Given the description of an element on the screen output the (x, y) to click on. 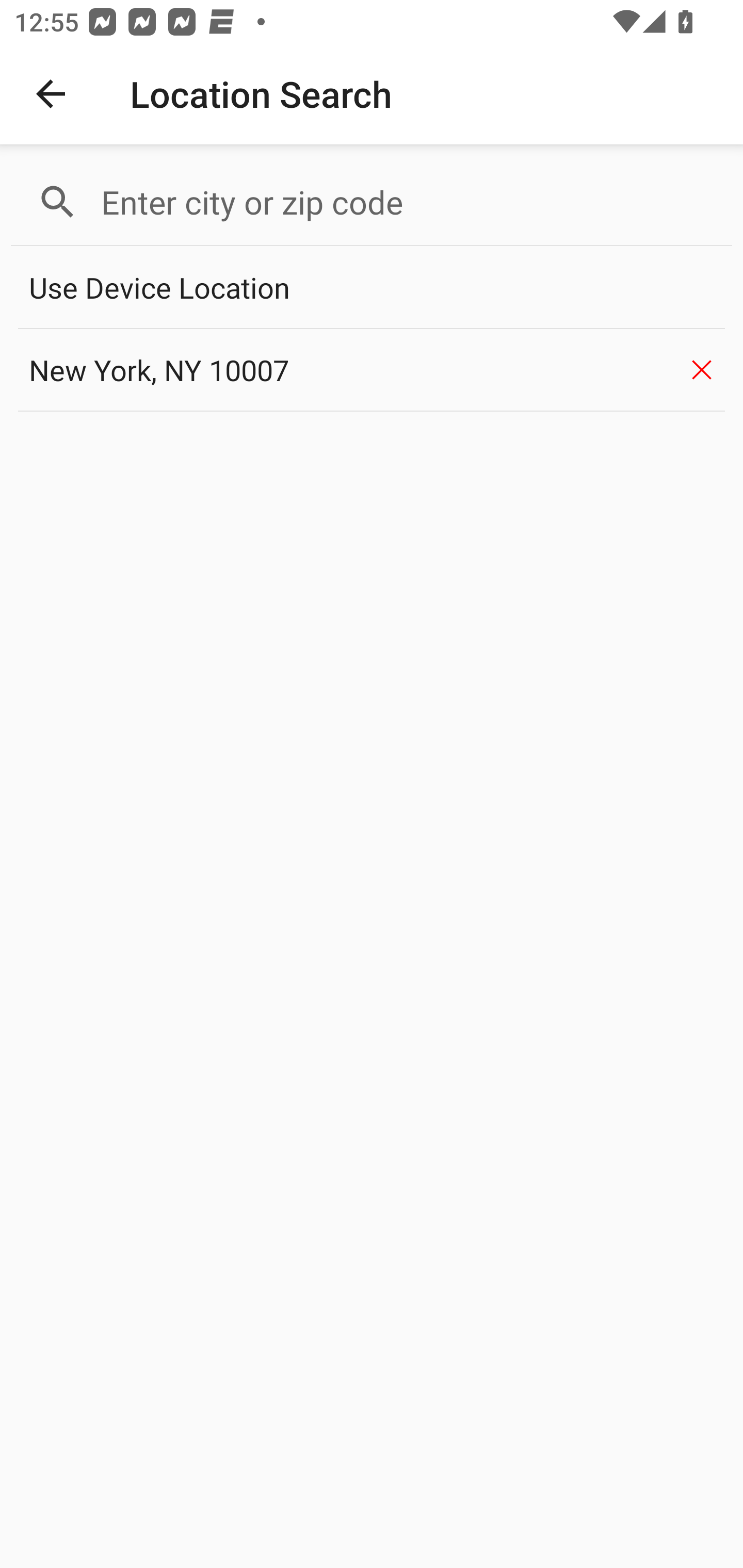
Navigate up (50, 93)
Enter city or zip code (407, 202)
Use Device Location (371, 287)
